Given the description of an element on the screen output the (x, y) to click on. 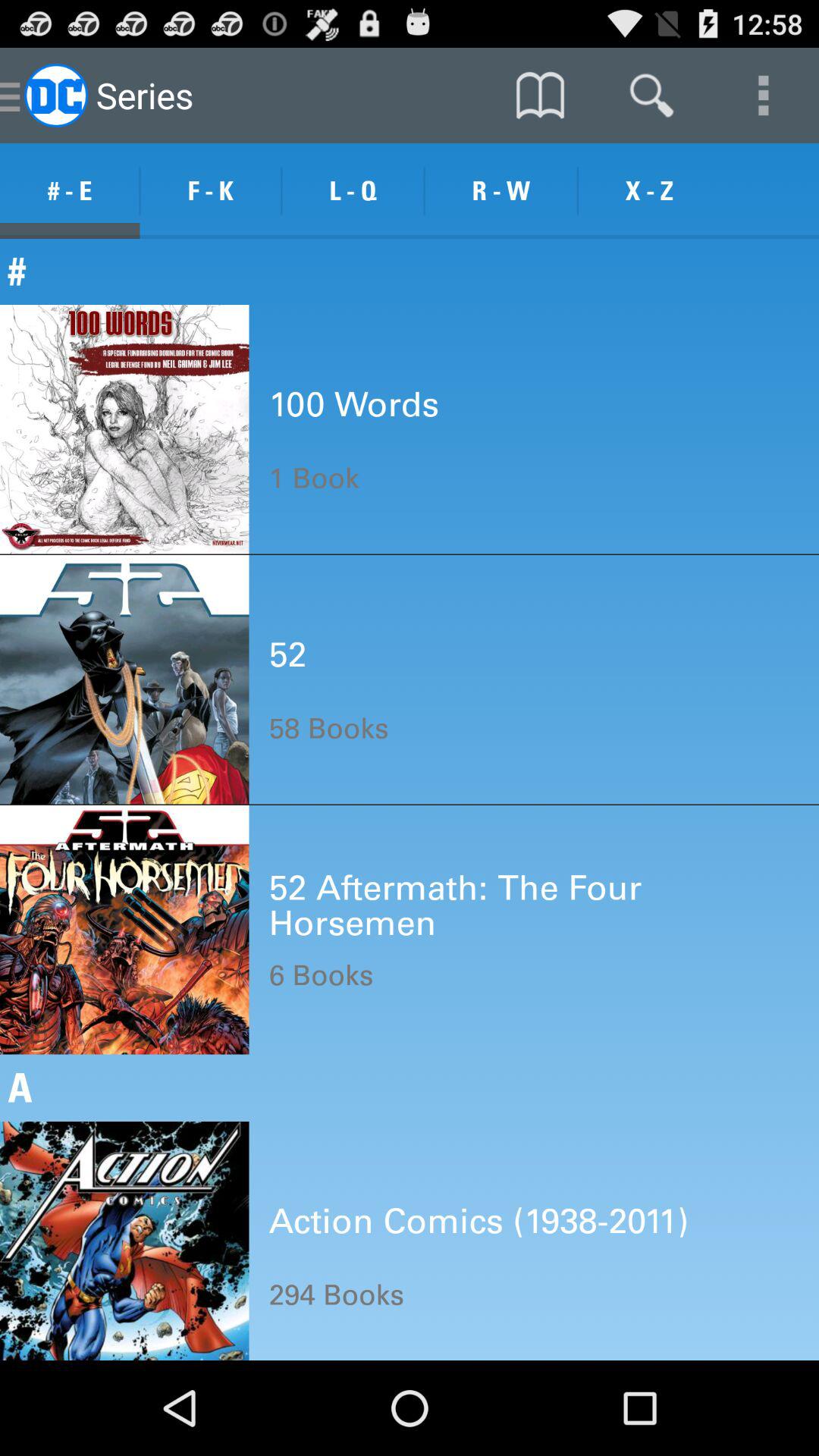
swipe to x - z (649, 190)
